Given the description of an element on the screen output the (x, y) to click on. 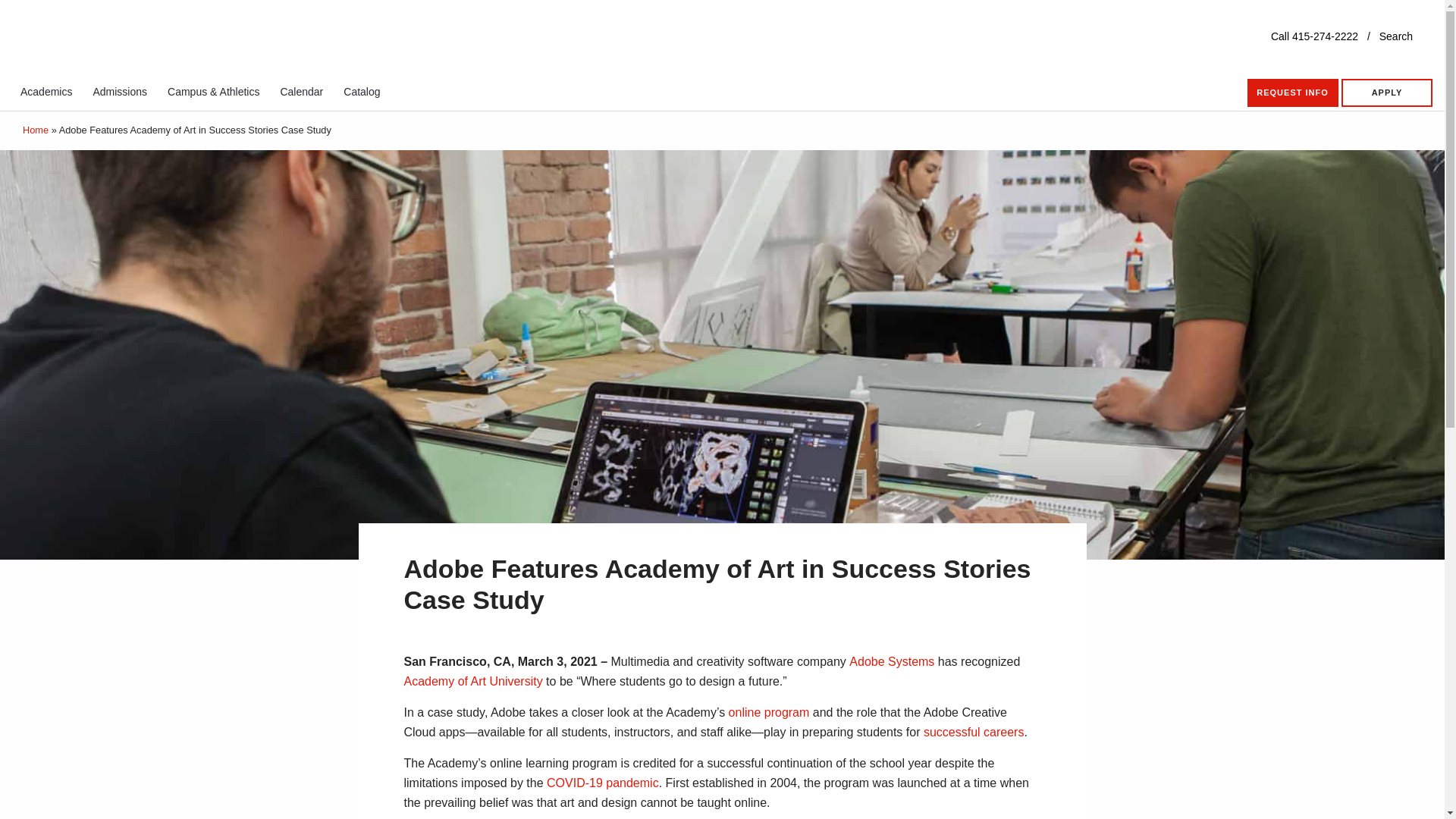
Academics (46, 91)
415-274-2222 (1325, 36)
Academy of Art Univeristy Home Page (170, 38)
